Given the description of an element on the screen output the (x, y) to click on. 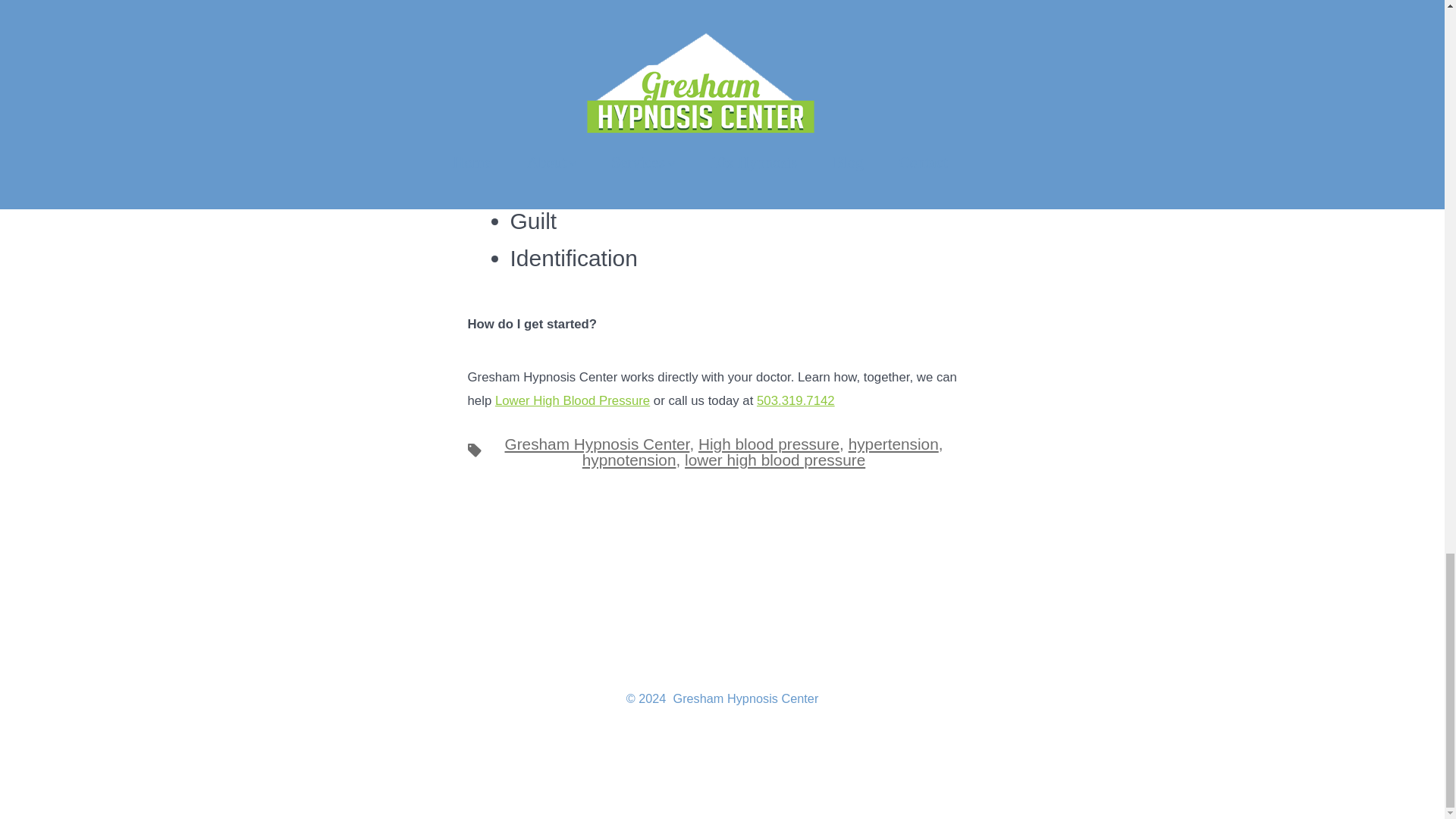
Lower High Blood Pressure (572, 400)
hypertension (893, 443)
503.319.7142 (795, 400)
hypnotension (629, 459)
High blood pressure (769, 443)
Gresham Hypnosis Center (595, 443)
lower high blood pressure (774, 459)
